Given the description of an element on the screen output the (x, y) to click on. 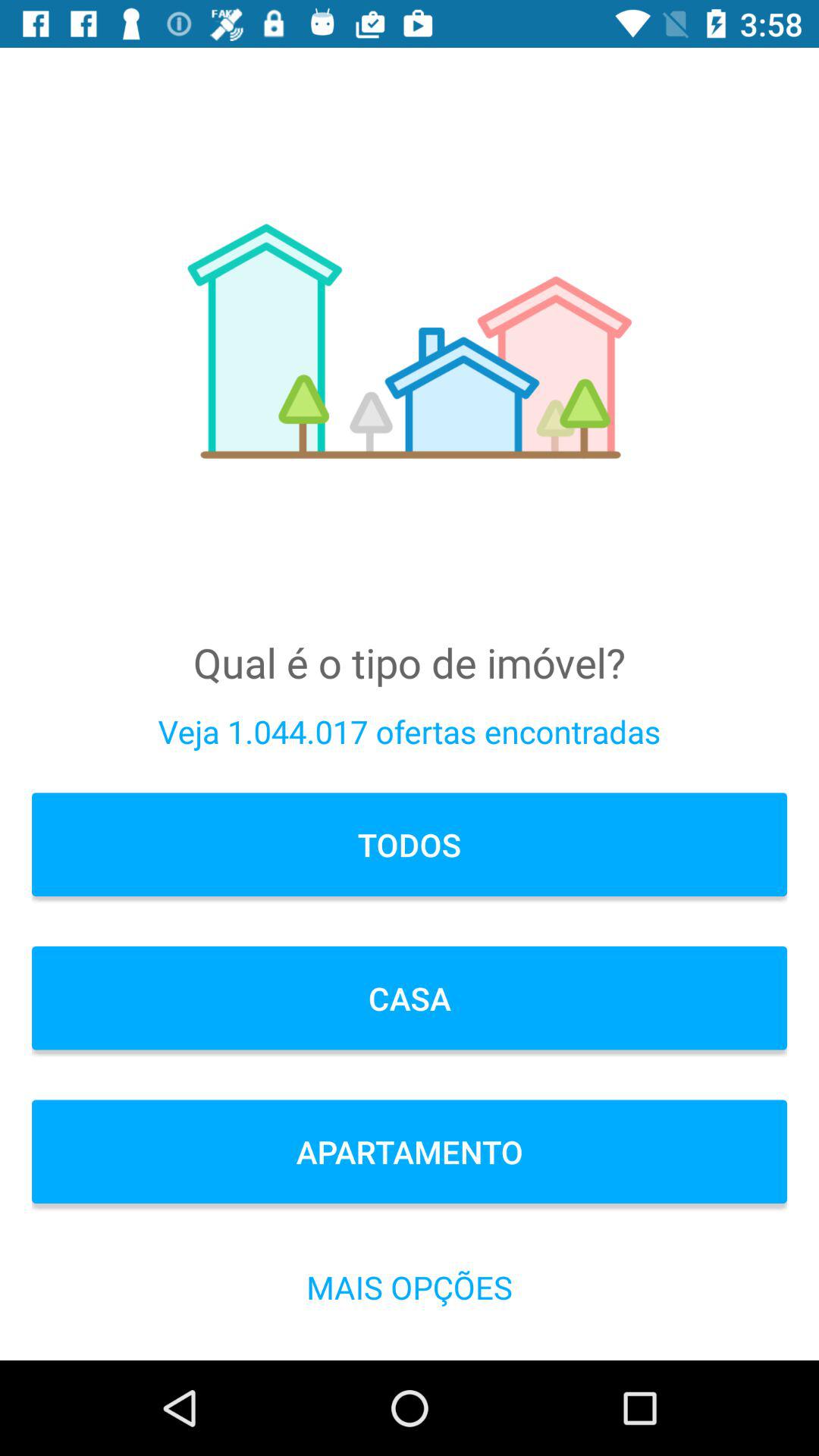
tap the item below the casa (409, 1151)
